Given the description of an element on the screen output the (x, y) to click on. 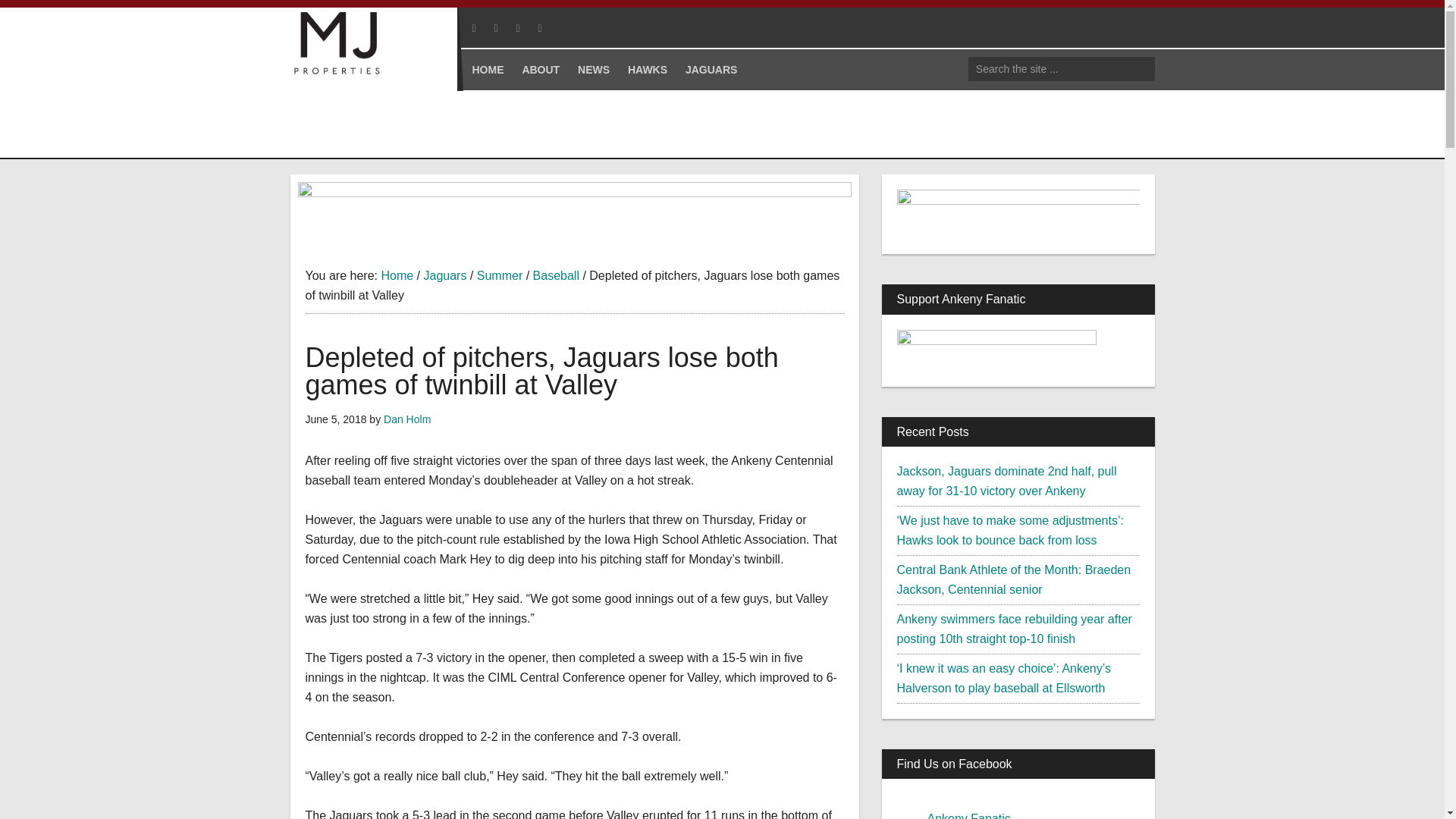
JAGUARS (711, 69)
Ankeny Fanatic (380, 117)
NEWS (593, 69)
HOME (487, 69)
ABOUT (540, 69)
HAWKS (647, 69)
